Given the description of an element on the screen output the (x, y) to click on. 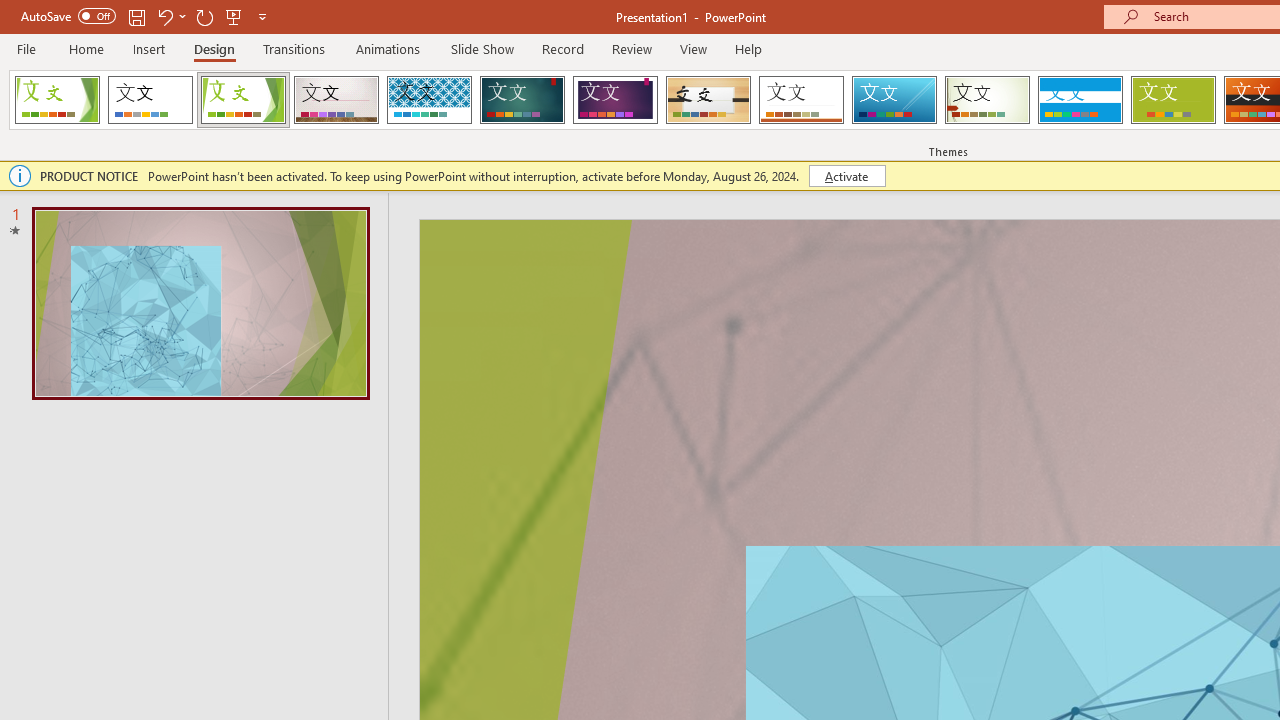
Basis (1172, 100)
Ion Boardroom (615, 100)
Slice (893, 100)
